Given the description of an element on the screen output the (x, y) to click on. 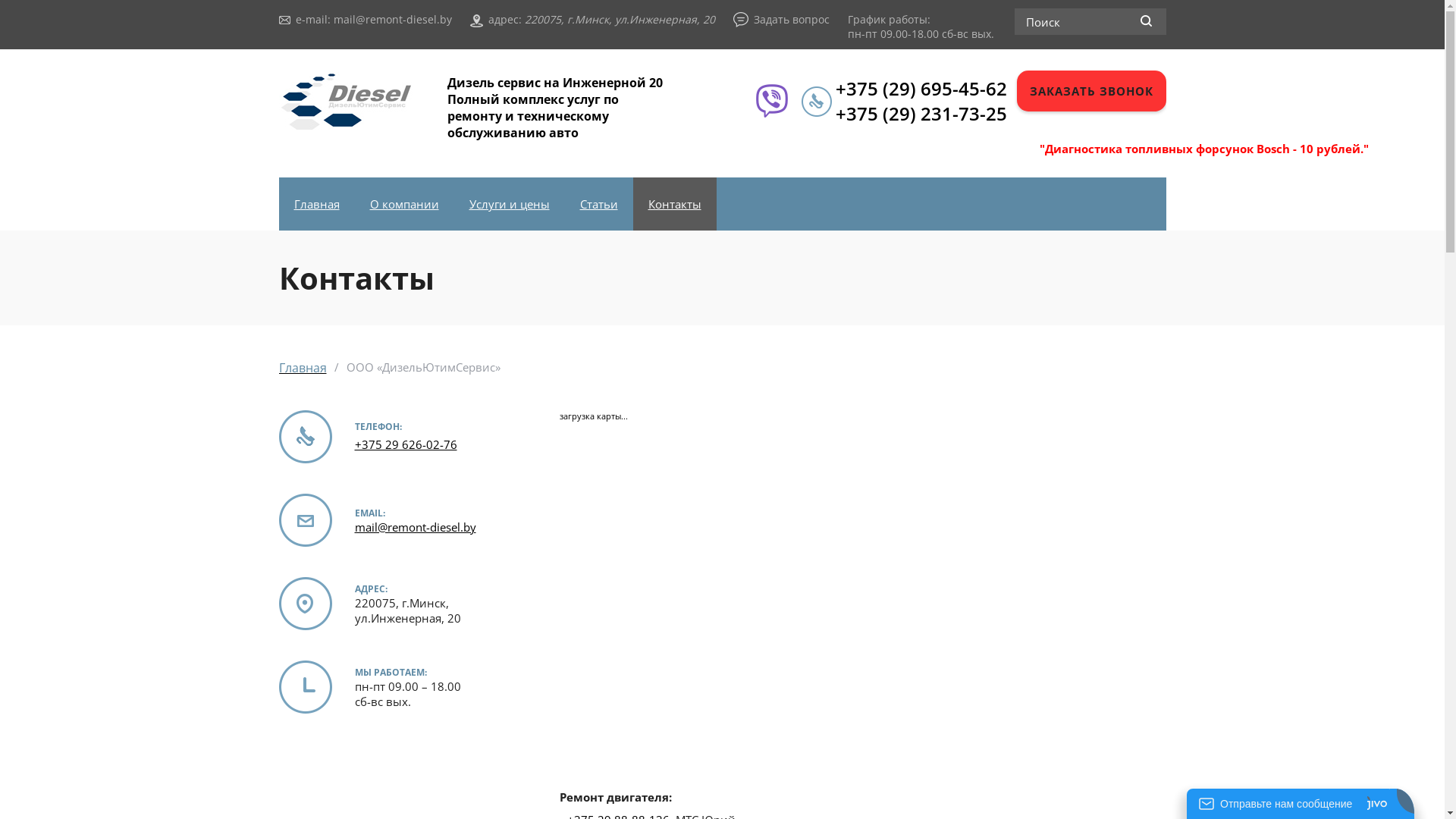
mail@remont-diesel.by Element type: text (415, 525)
+375 29 626-02-76 Element type: text (405, 443)
icons8-viber-50.png Element type: hover (771, 100)
+375 (29) 231-73-25 Element type: text (921, 112)
mail@remont-diesel.by Element type: text (392, 19)
+375 (29) 695-45-62 Element type: text (921, 87)
